Given the description of an element on the screen output the (x, y) to click on. 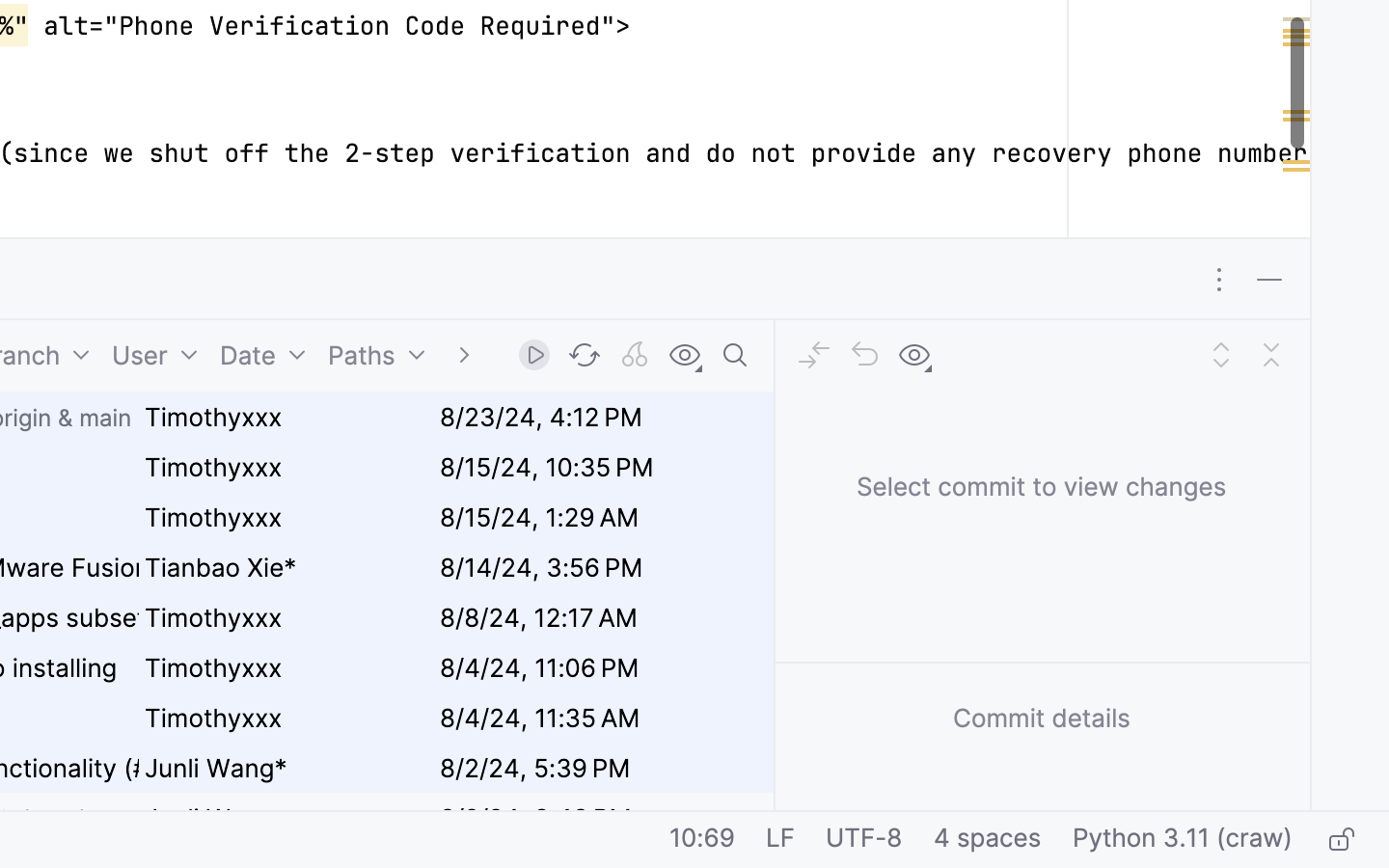
7:21 Element type: AXStaticText (710, 840)
LF Element type: AXStaticText (780, 840)
Make file read-only Element type: AXStaticText (1338, 840)
4 spaces Element type: AXStaticText (987, 839)
